Given the description of an element on the screen output the (x, y) to click on. 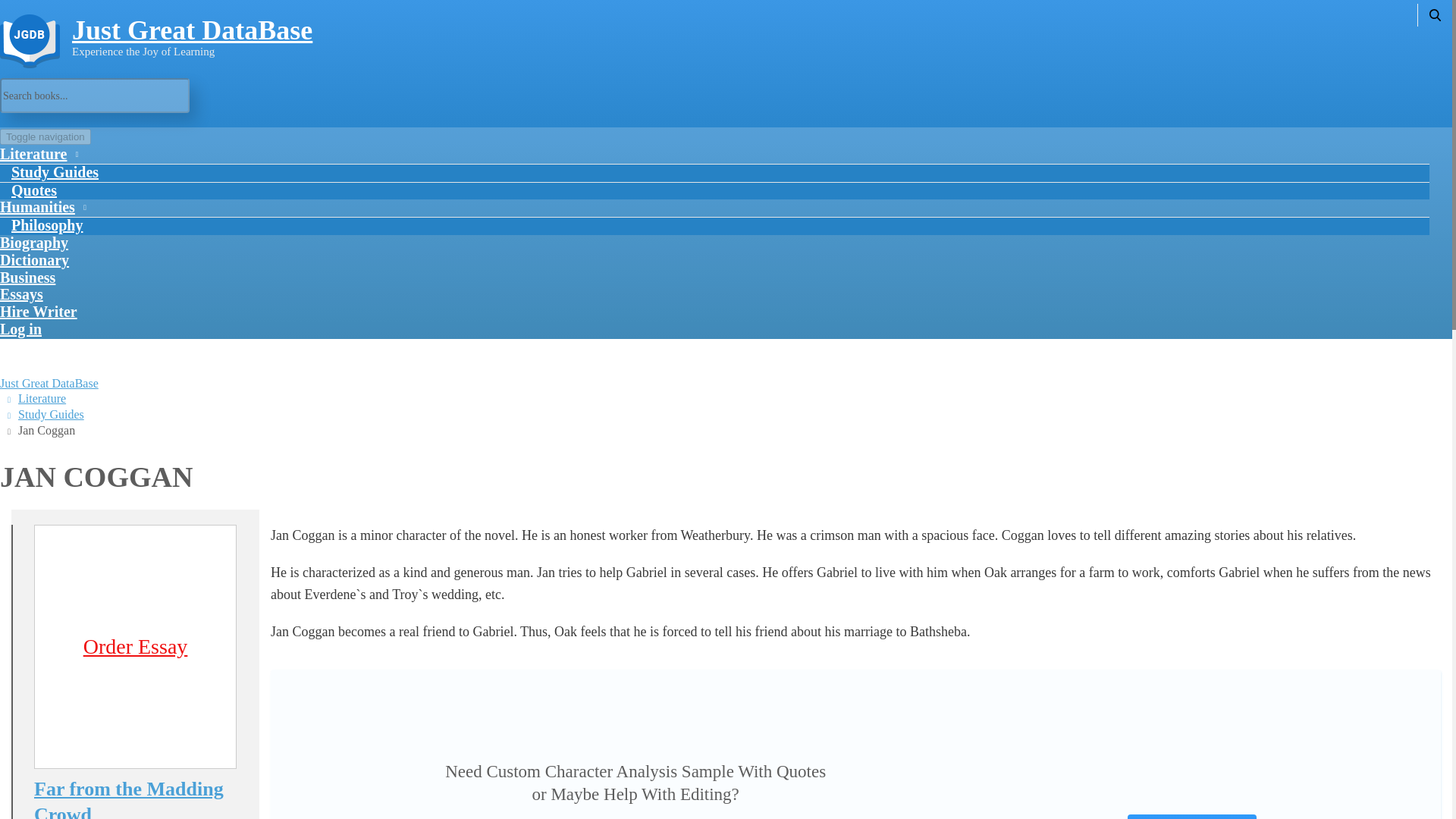
Study Guides (50, 413)
Just Great DataBase (192, 30)
Toggle navigation (45, 136)
Quotes (34, 190)
Dictionary (34, 259)
Just Great DataBase (49, 382)
Order Essay (134, 647)
Far from the Madding Crowd (134, 797)
Study Guides (55, 172)
Hire Writer (38, 311)
Order Here (1191, 816)
Humanities (41, 206)
Literature (37, 153)
Business (27, 277)
Literature (41, 398)
